Given the description of an element on the screen output the (x, y) to click on. 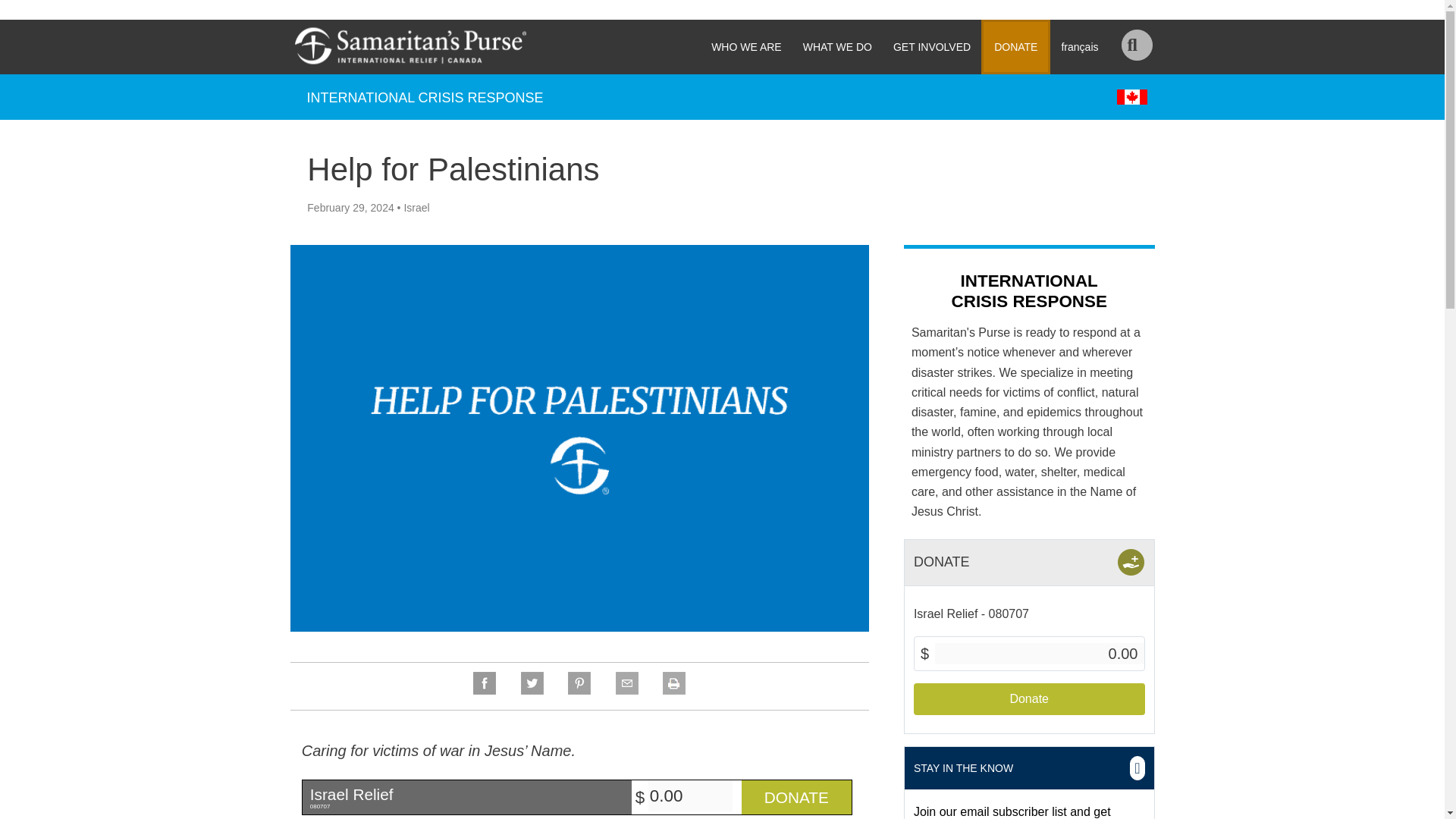
Print Page (674, 689)
DONATE (1015, 46)
0.00 (1038, 653)
WHAT WE DO (837, 46)
Share by Email (626, 689)
GET INVOLVED (931, 46)
0.00 (689, 795)
WHO WE ARE (746, 46)
